Given the description of an element on the screen output the (x, y) to click on. 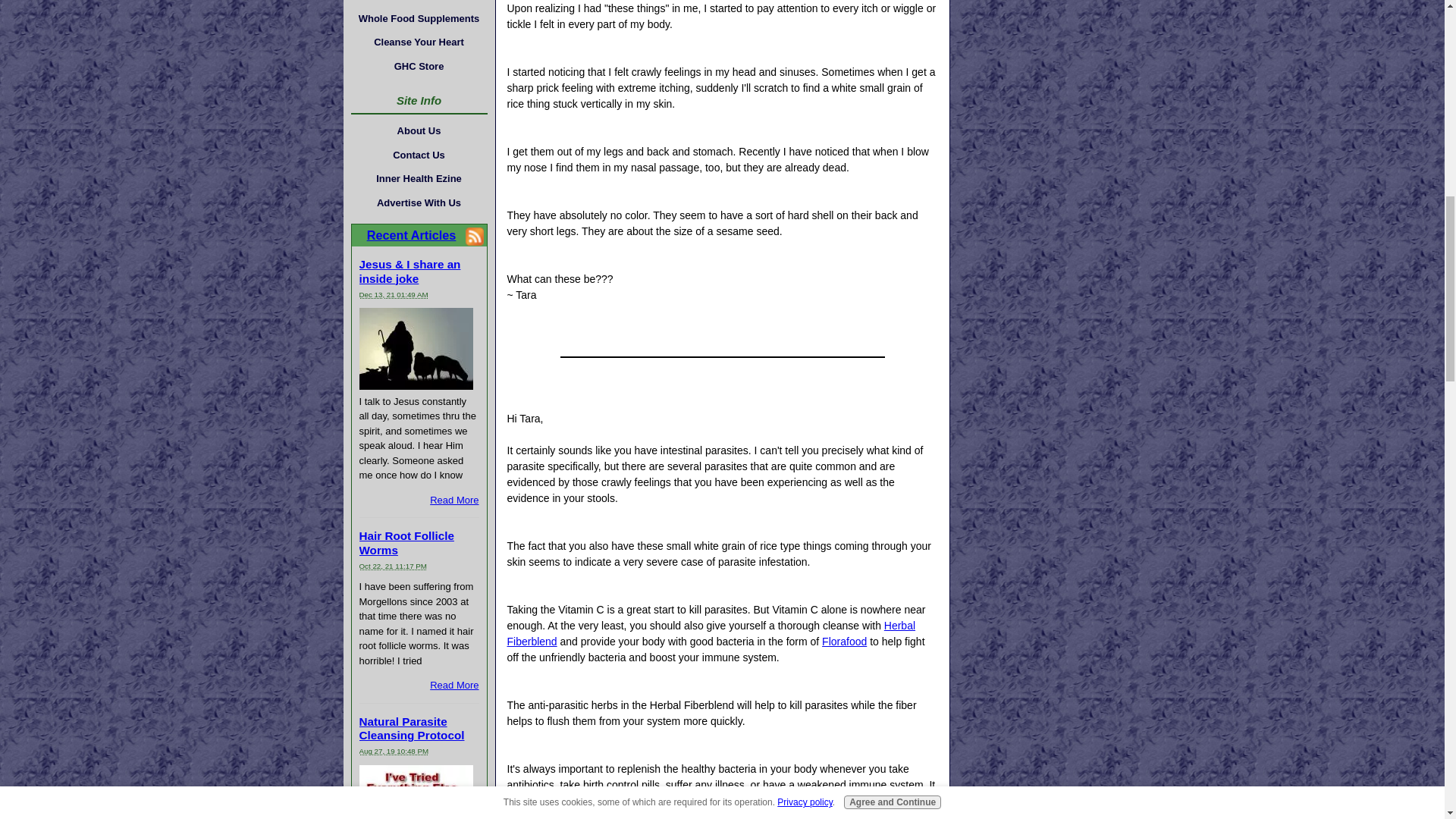
2021-10-22T23:17:58-0400 (392, 565)
Whole Food Supplements (418, 18)
2019-08-27T22:48:39-0400 (394, 750)
Cleanse Your Heart (418, 42)
Nutritional Supplements (418, 2)
Florafood (844, 641)
Recent Articles (411, 234)
Contact Us (418, 155)
GHC Store (418, 65)
Inner Health Ezine (418, 178)
